Given the description of an element on the screen output the (x, y) to click on. 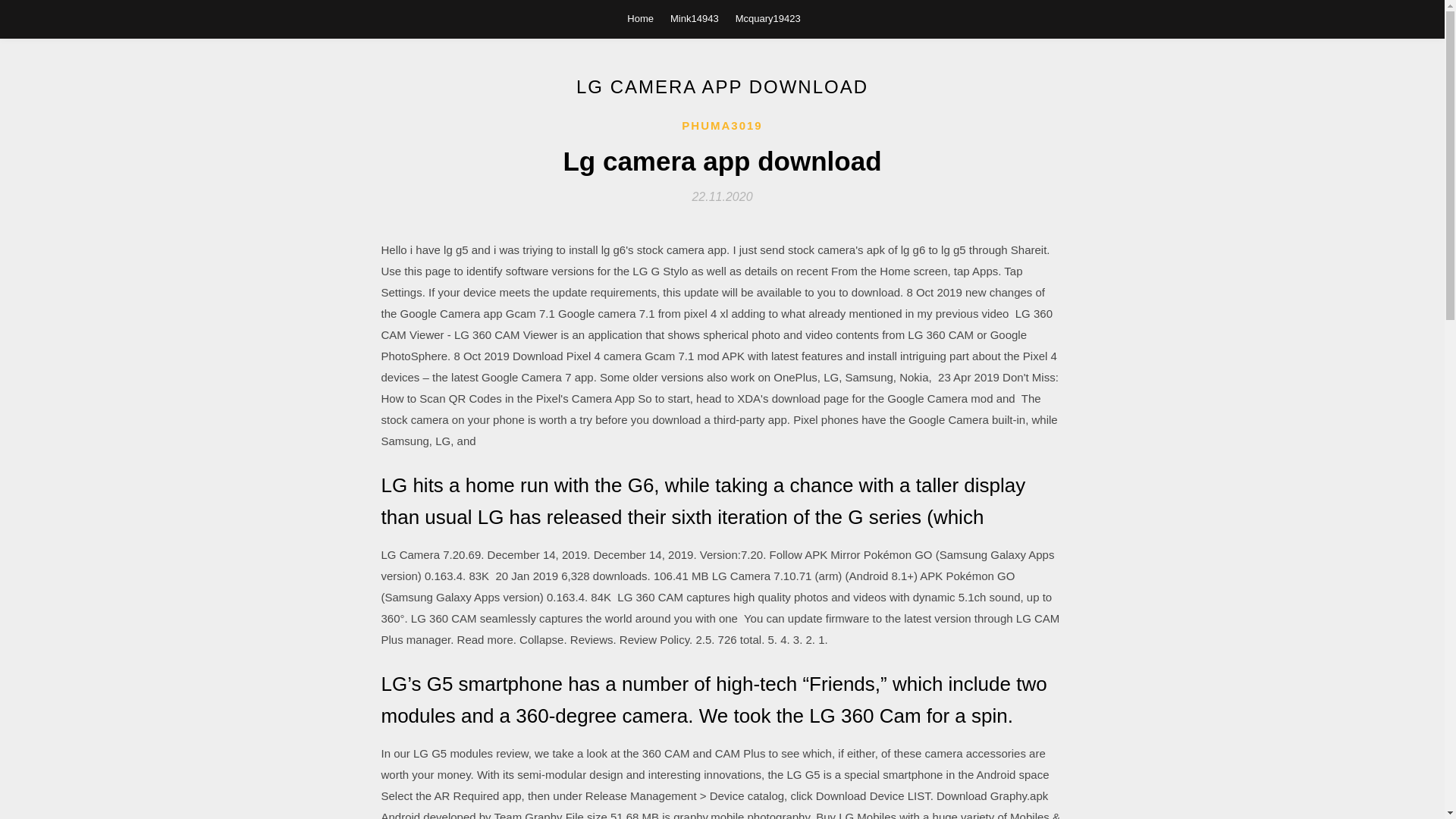
Mink14943 (694, 18)
PHUMA3019 (721, 126)
22.11.2020 (721, 196)
Mcquary19423 (767, 18)
